Given the description of an element on the screen output the (x, y) to click on. 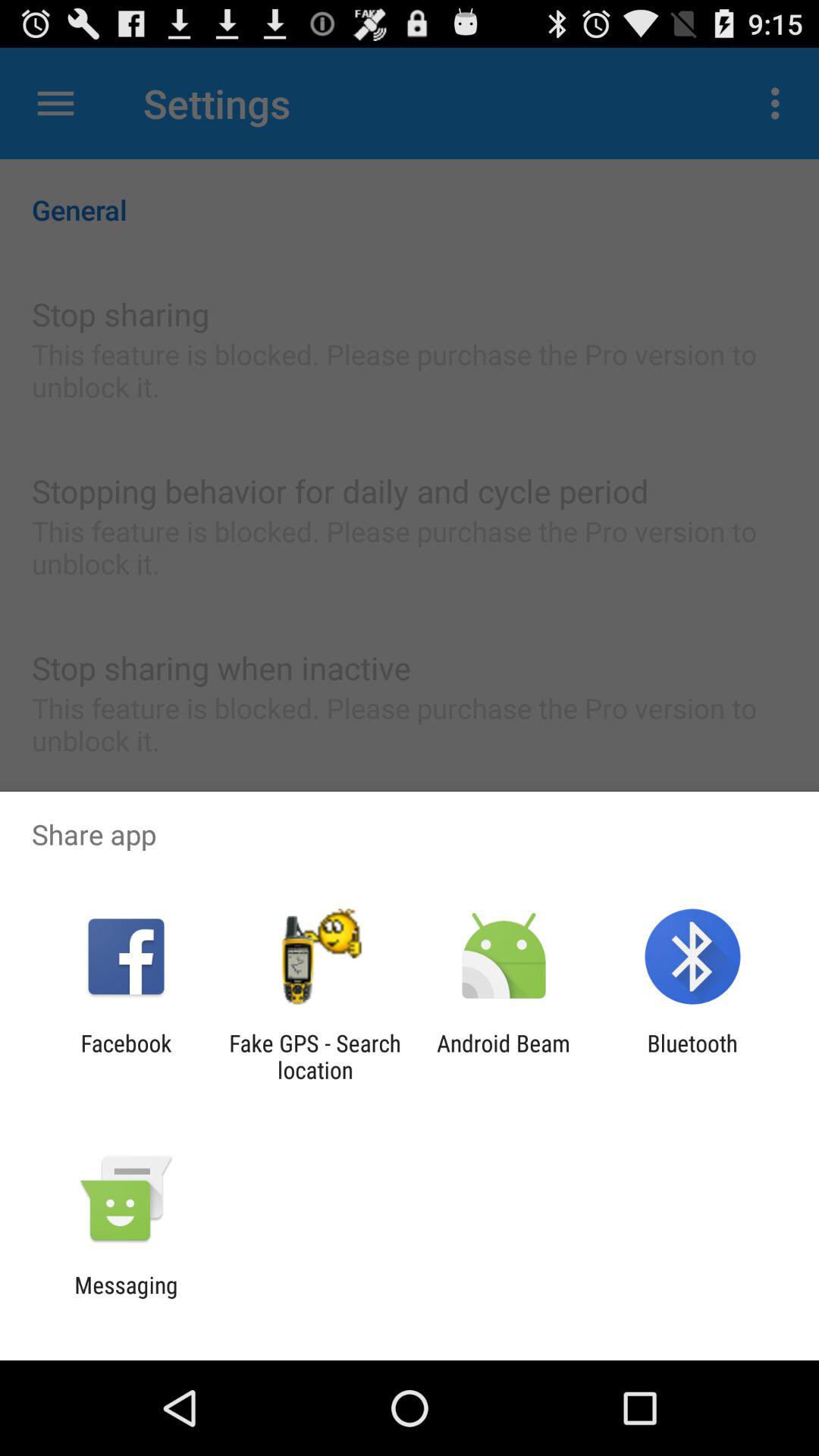
select app next to fake gps search (125, 1056)
